Given the description of an element on the screen output the (x, y) to click on. 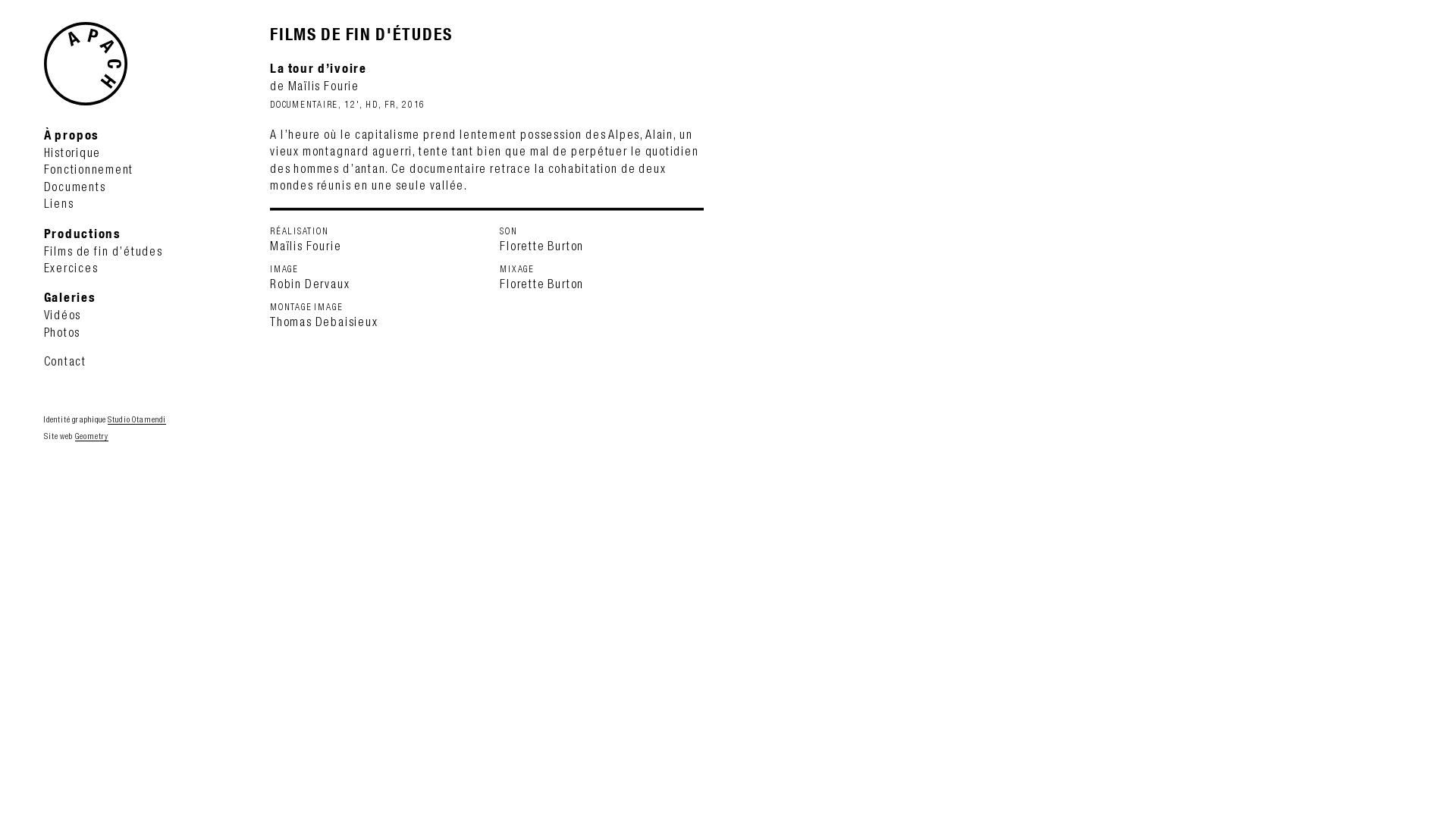
Liens Element type: text (58, 203)
Productions Element type: text (82, 233)
Fonctionnement Element type: text (88, 169)
Photos Element type: text (62, 332)
Exercices Element type: text (70, 267)
Geometry Element type: text (91, 436)
Contact Element type: text (64, 361)
Historique Element type: text (72, 152)
Documents Element type: text (74, 186)
Studio Otamendi Element type: text (136, 419)
Galeries Element type: text (69, 296)
